Given the description of an element on the screen output the (x, y) to click on. 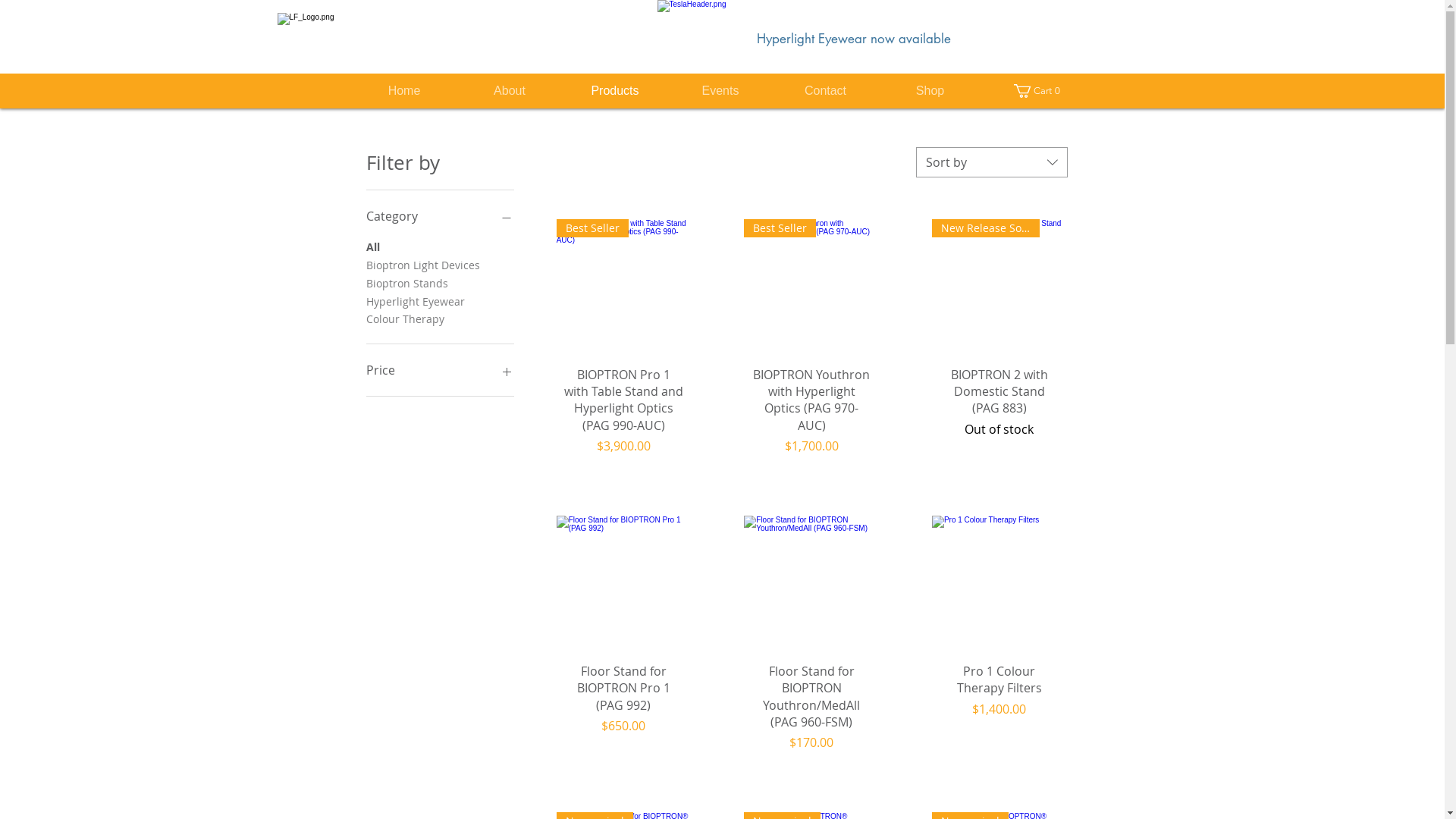
Home Element type: text (404, 90)
Pro 1 Colour Therapy Filters
Price
$1,400.00 Element type: text (999, 707)
Price Element type: text (439, 369)
About Element type: text (508, 90)
BIOPTRON 2 with Domestic Stand (PAG 883)
Out of stock Element type: text (999, 410)
Events Element type: text (719, 90)
Hyperlight Eyewear now available Element type: text (853, 38)
Cart
0 Element type: text (1038, 90)
Floor Stand for BIOPTRON Pro 1 (PAG 992)
Price
$650.00 Element type: text (624, 707)
Best Seller Element type: text (810, 286)
Shop Element type: text (930, 90)
Category Element type: text (439, 215)
New Release Soon Element type: text (998, 286)
Sort by Element type: text (991, 162)
Products Element type: text (615, 90)
Best Seller Element type: text (623, 286)
Contact Element type: text (825, 90)
